Given the description of an element on the screen output the (x, y) to click on. 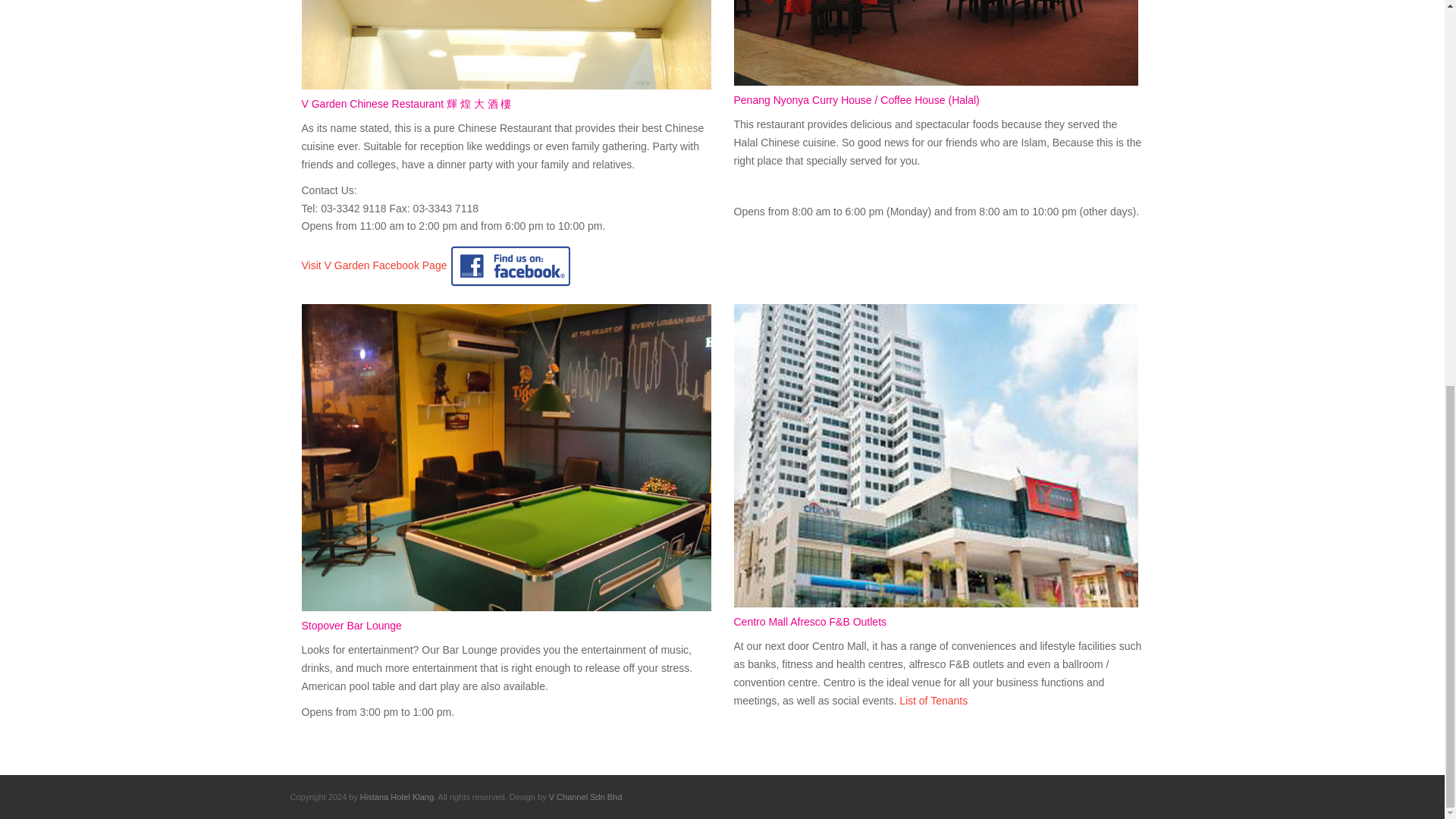
Visit V Garden Facebook Page (438, 265)
Histana Hotel Klang (396, 796)
List of Tenants (933, 700)
V Channel Sdn Bhd (585, 796)
